Given the description of an element on the screen output the (x, y) to click on. 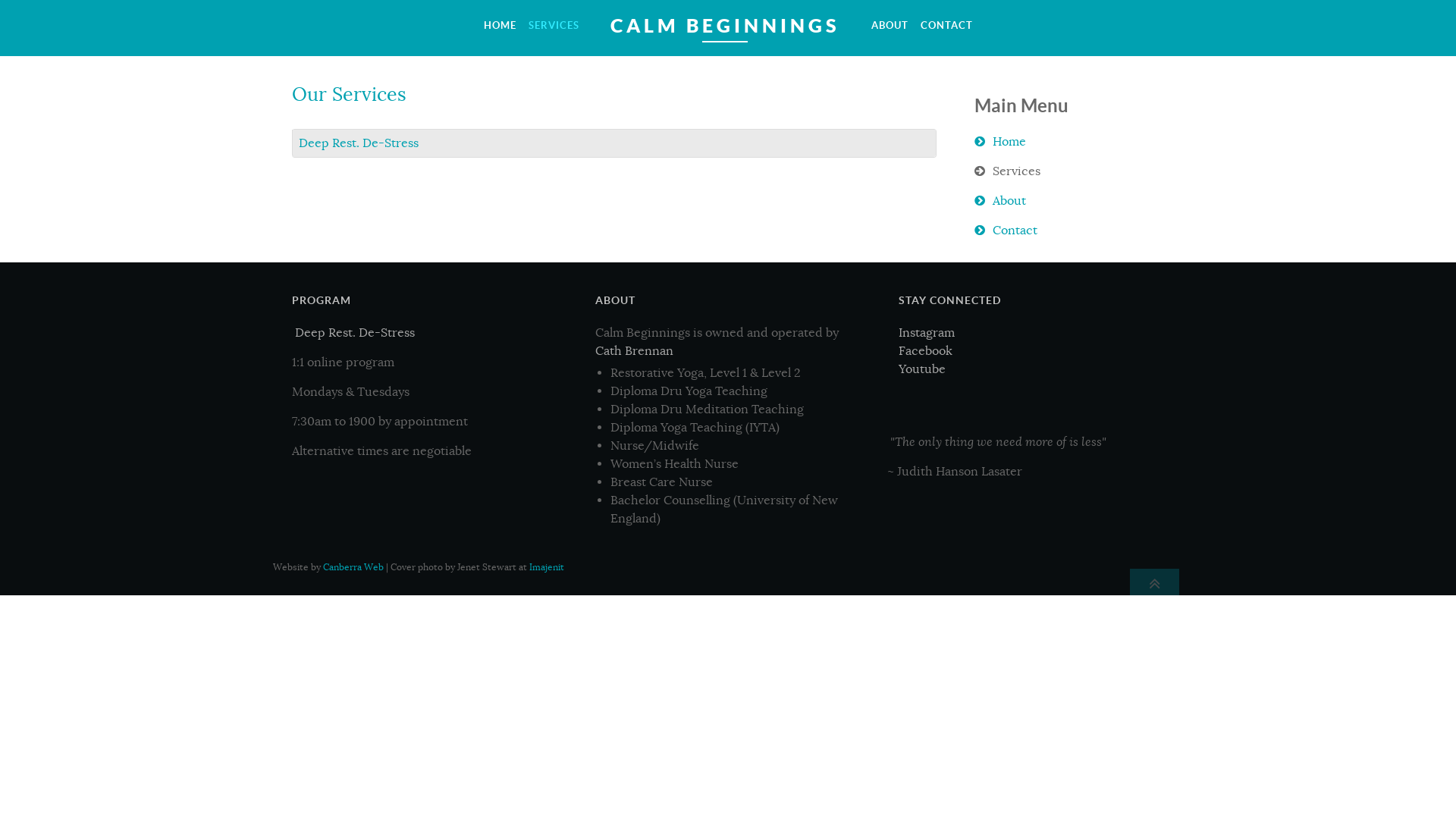
Instagram Element type: text (926, 332)
SERVICES Element type: text (553, 25)
Home Element type: text (1069, 141)
Imajenit Element type: text (546, 566)
Facebook Element type: text (925, 350)
Contact Element type: text (1069, 230)
Canberra Web Element type: text (353, 566)
Cath Brennan Element type: text (634, 350)
 Deep Rest. De-Stress Element type: text (352, 332)
Services Element type: text (1069, 171)
CALM BEGINNINGS Element type: text (725, 25)
About Element type: text (1069, 200)
Youtube Element type: text (921, 368)
CONTACT Element type: text (945, 25)
ABOUT Element type: text (889, 25)
HOME Element type: text (499, 25)
Deep Rest. De-Stress Element type: text (358, 142)
